Given the description of an element on the screen output the (x, y) to click on. 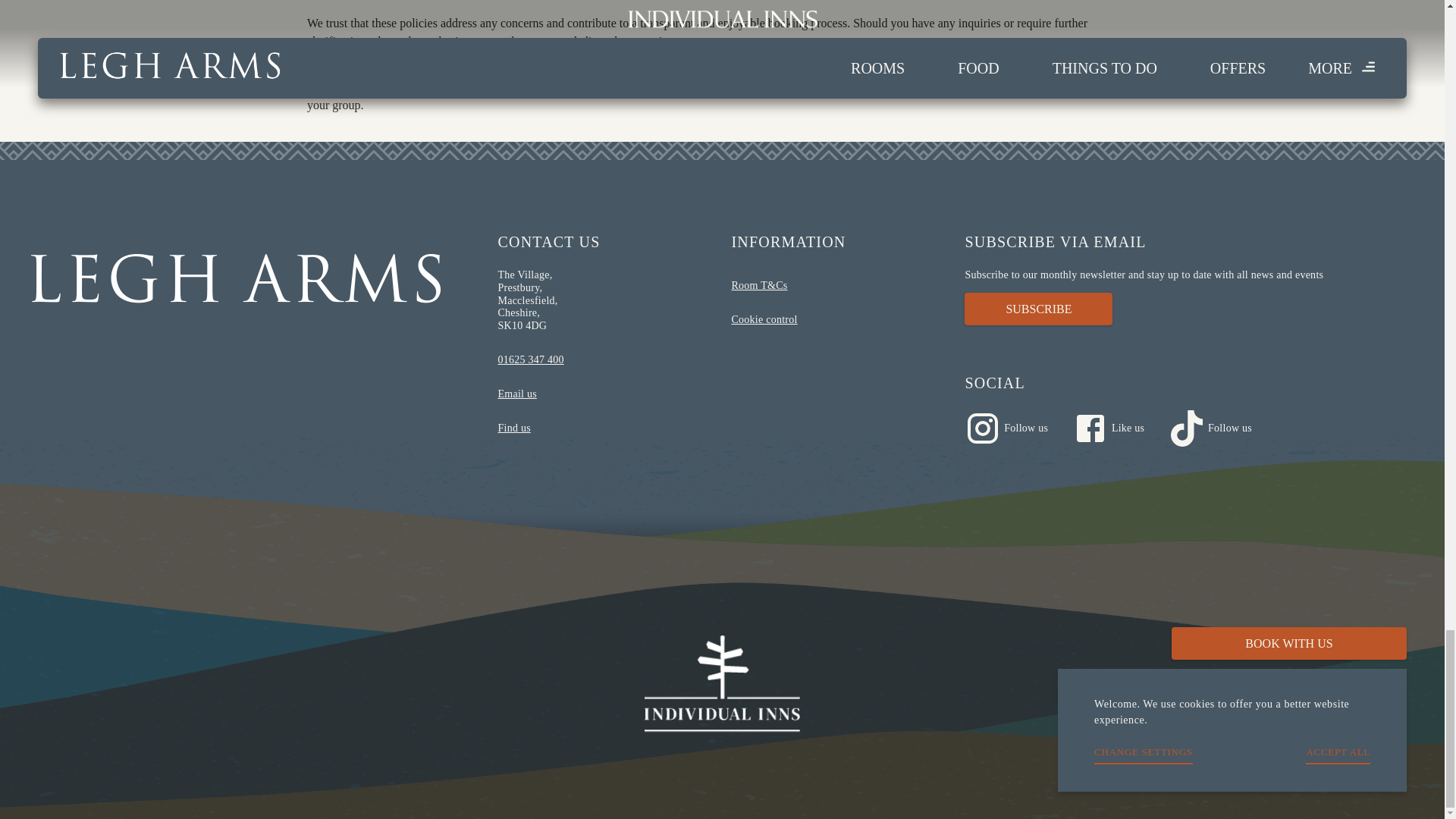
Follow us (1222, 428)
Like us (1120, 428)
Follow us (1017, 428)
SUBSCRIBE (1188, 308)
Find us (605, 428)
Email us (605, 394)
Cookie control (804, 320)
SUBSCRIBE (1037, 308)
01625 347 400 (605, 360)
